Given the description of an element on the screen output the (x, y) to click on. 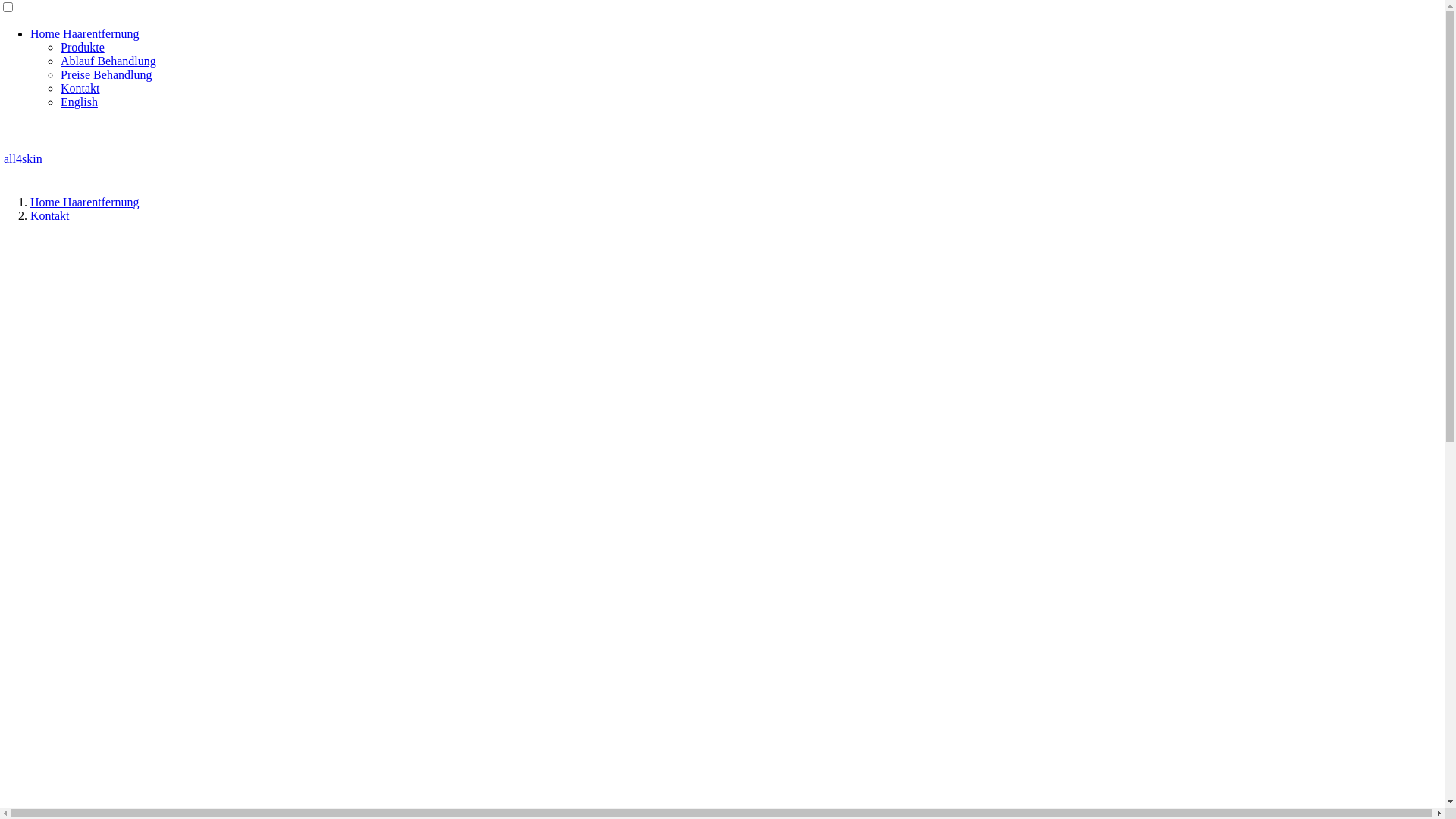
Ablauf Behandlung Element type: text (108, 60)
           

all4skin
        Element type: text (22, 151)
Home Haarentfernung Element type: text (84, 201)
Kontakt Element type: text (80, 87)
Home Haarentfernung Element type: text (84, 33)
Preise Behandlung Element type: text (105, 74)
Produkte Element type: text (82, 46)
Kontakt Element type: text (49, 215)
English Element type: text (78, 101)
